Given the description of an element on the screen output the (x, y) to click on. 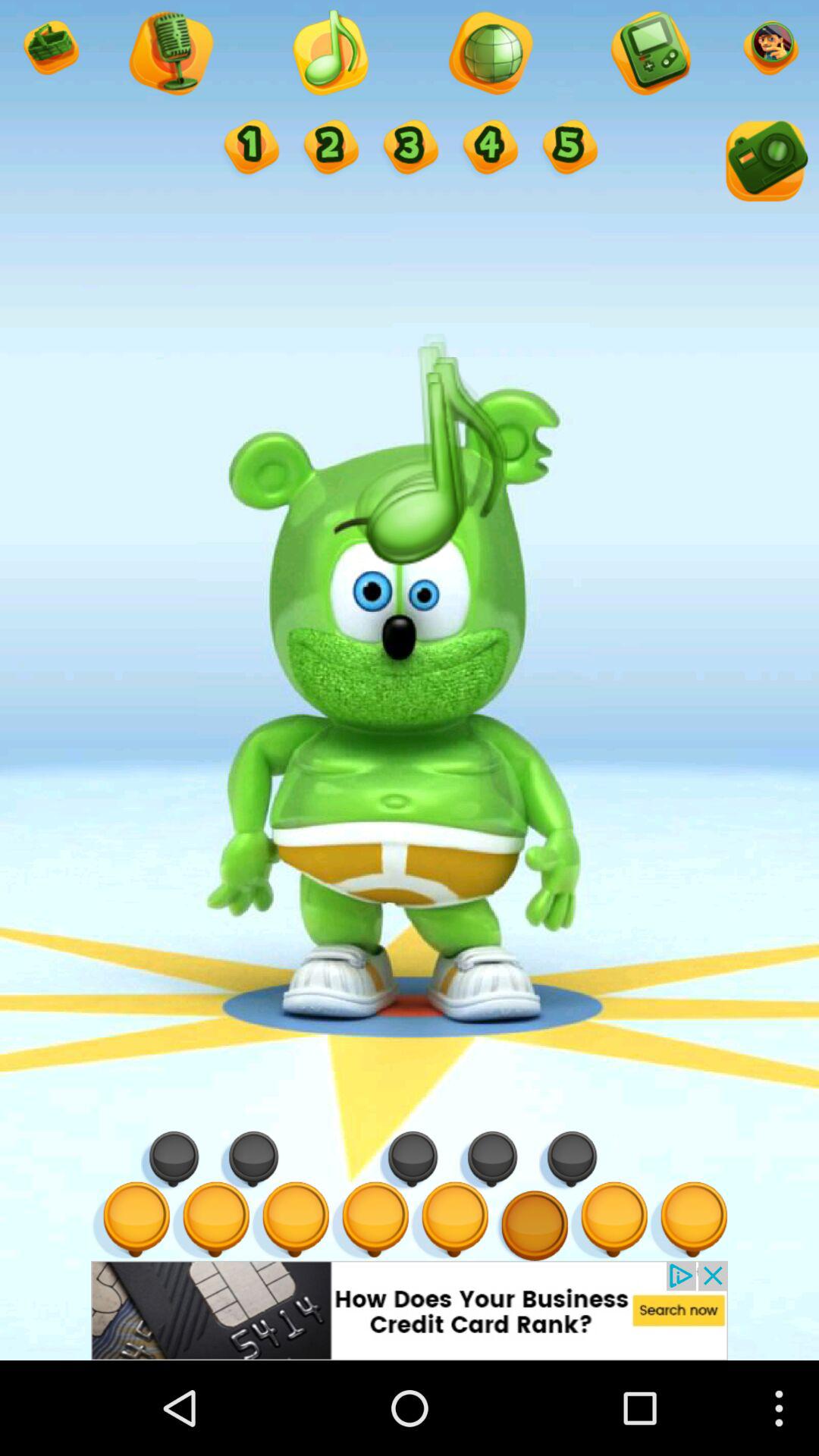
advertisement (409, 1310)
